Given the description of an element on the screen output the (x, y) to click on. 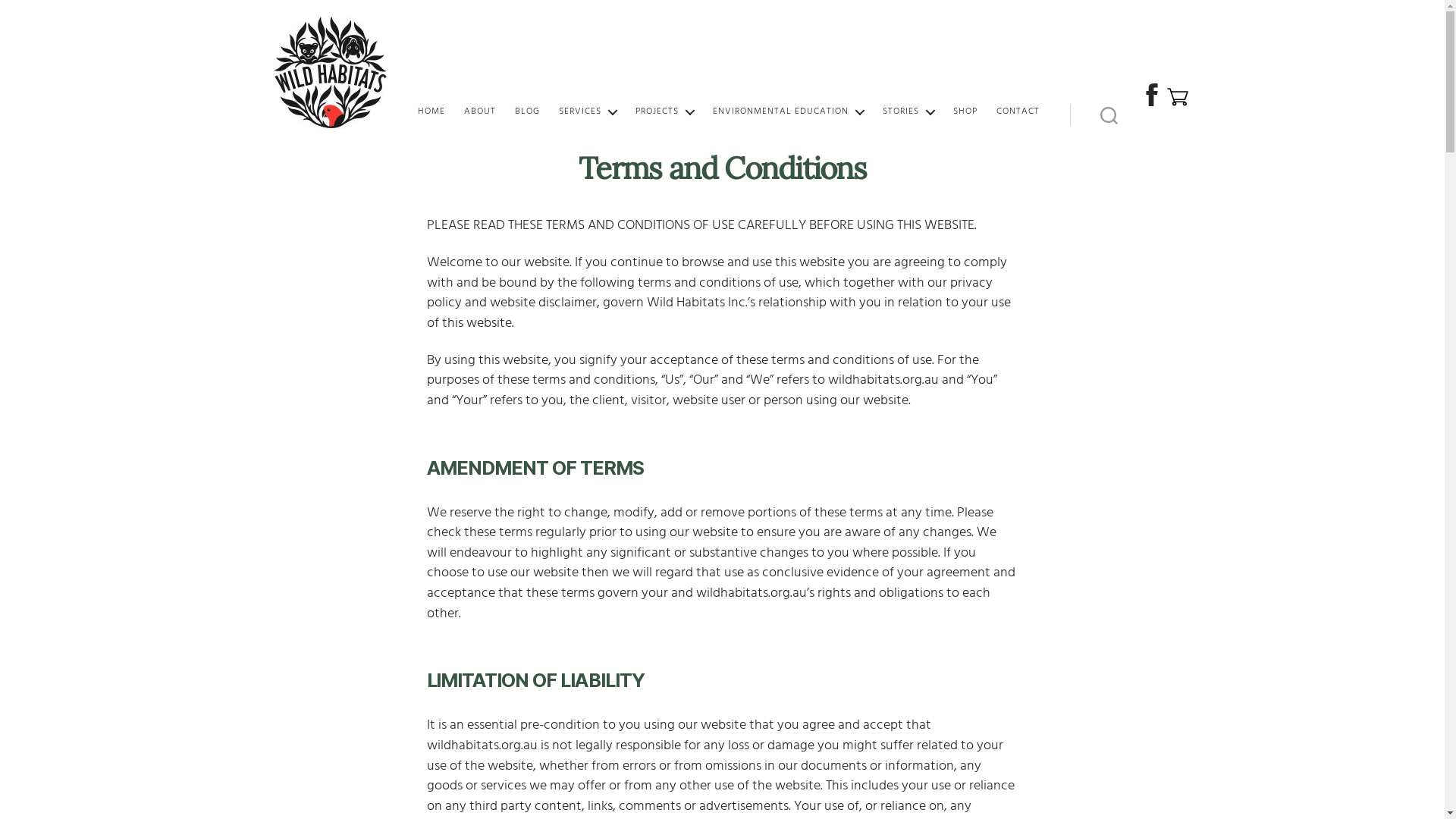
CONTACT Element type: text (1017, 111)
BLOG Element type: text (526, 111)
STORIES Element type: text (908, 111)
SHOP Element type: text (965, 111)
PROJECTS Element type: text (664, 111)
ENVIRONMENTAL EDUCATION Element type: text (787, 111)
ABOUT Element type: text (479, 111)
SERVICES Element type: text (587, 111)
HOME Element type: text (431, 111)
